Given the description of an element on the screen output the (x, y) to click on. 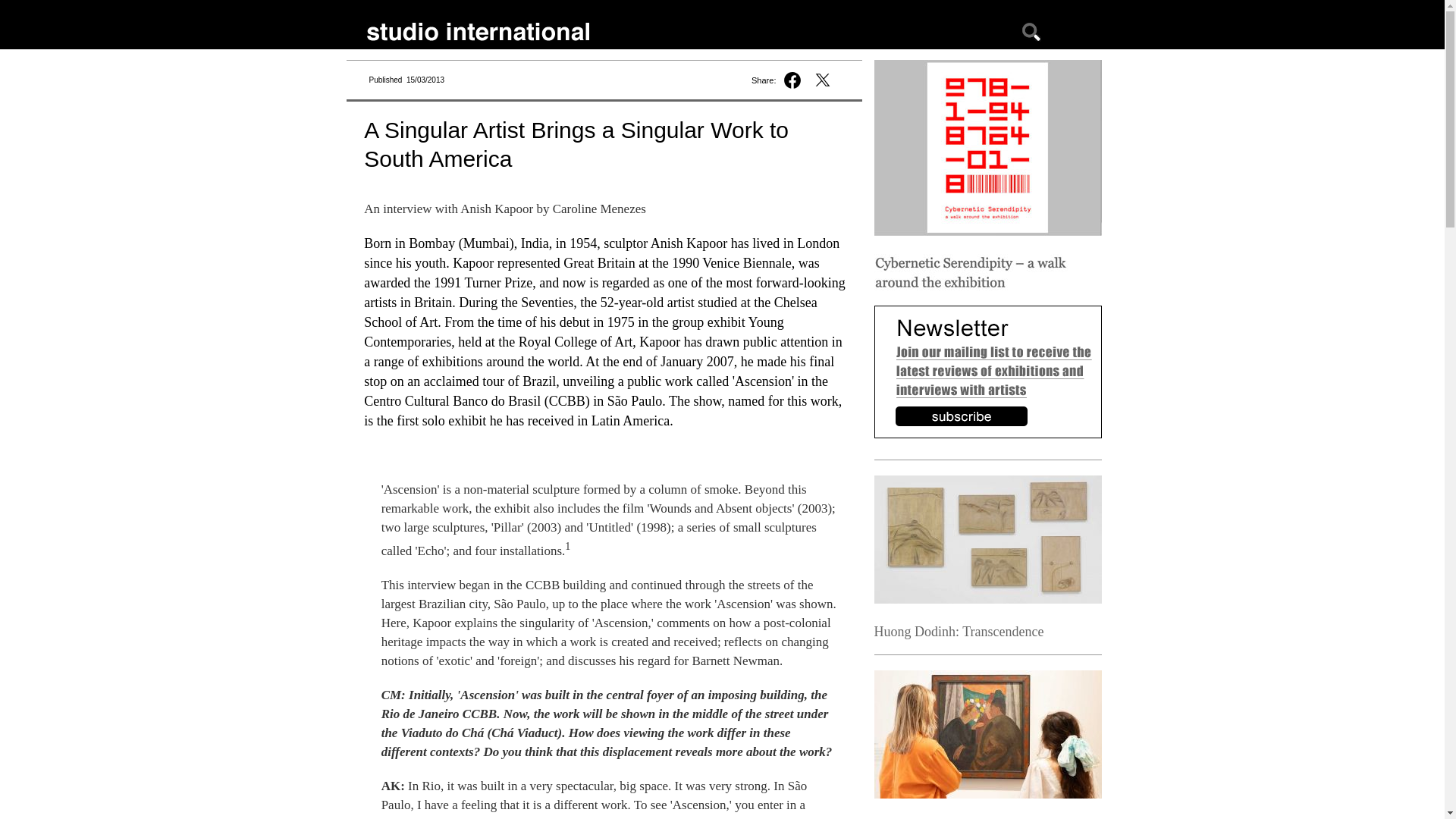
Huong Dodinh: Transcendence (958, 631)
